Given the description of an element on the screen output the (x, y) to click on. 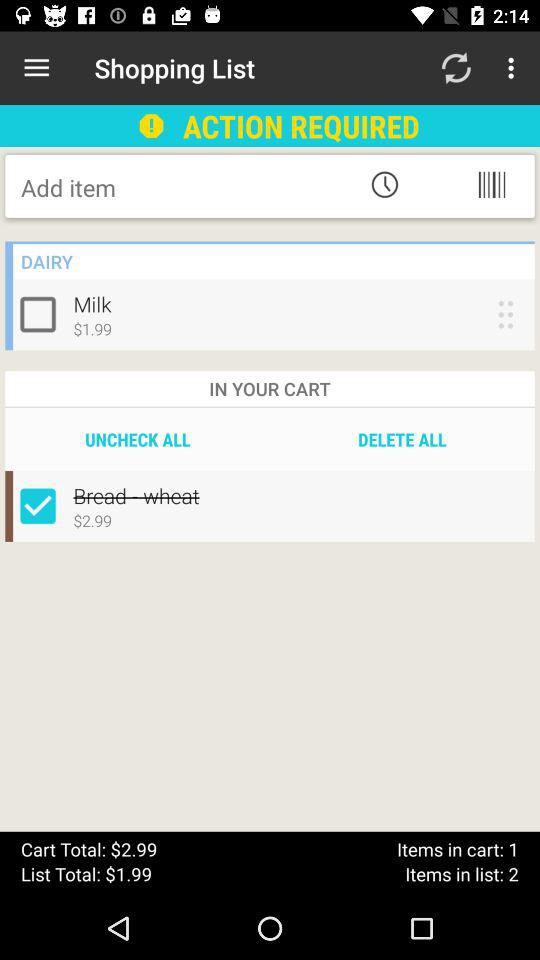
go to the main menu (491, 184)
